Given the description of an element on the screen output the (x, y) to click on. 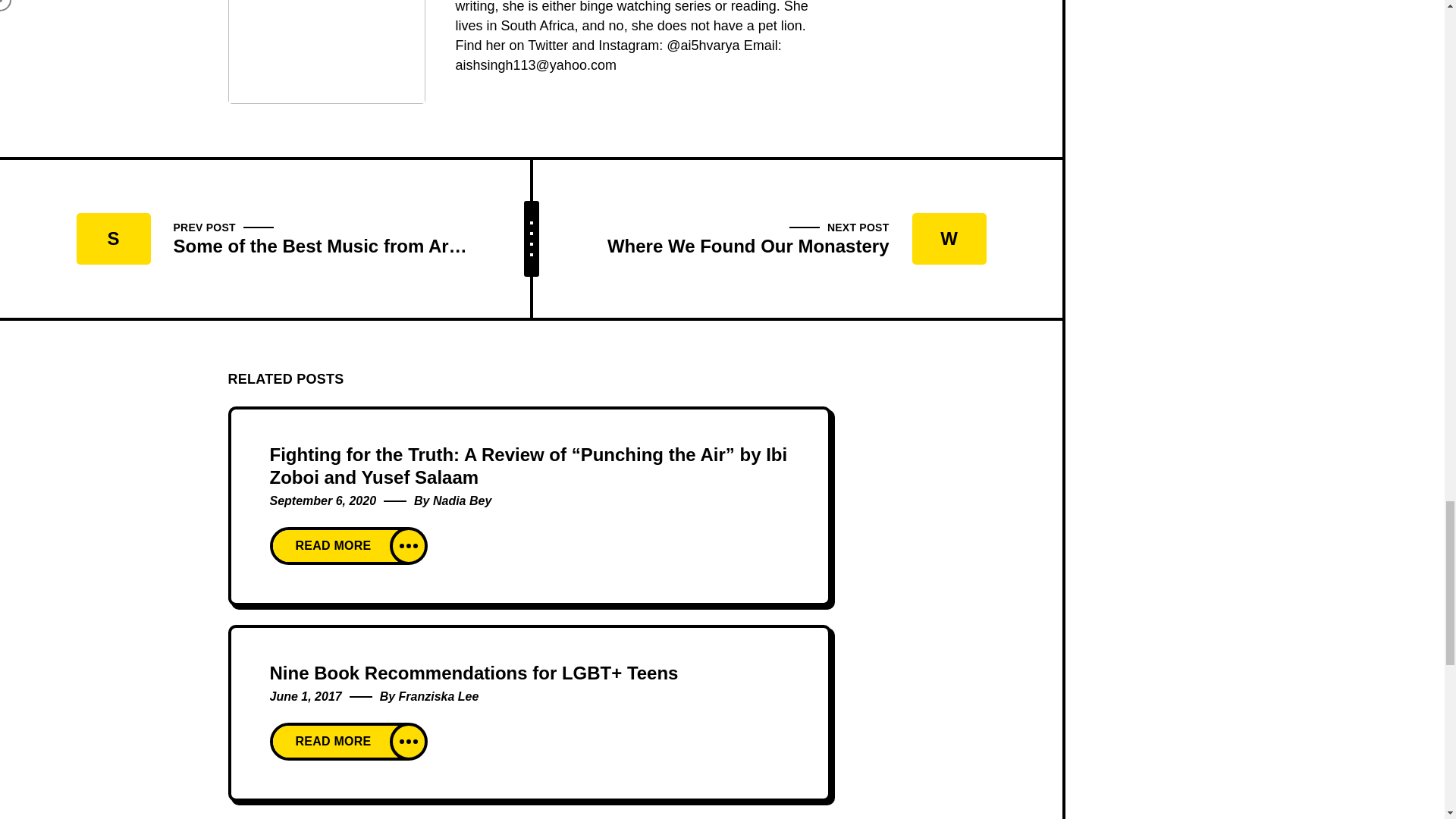
Some of the Best Music from Arroyo Seco Weekend, Day 1 (298, 238)
Where We Found Our Monastery (761, 238)
